Given the description of an element on the screen output the (x, y) to click on. 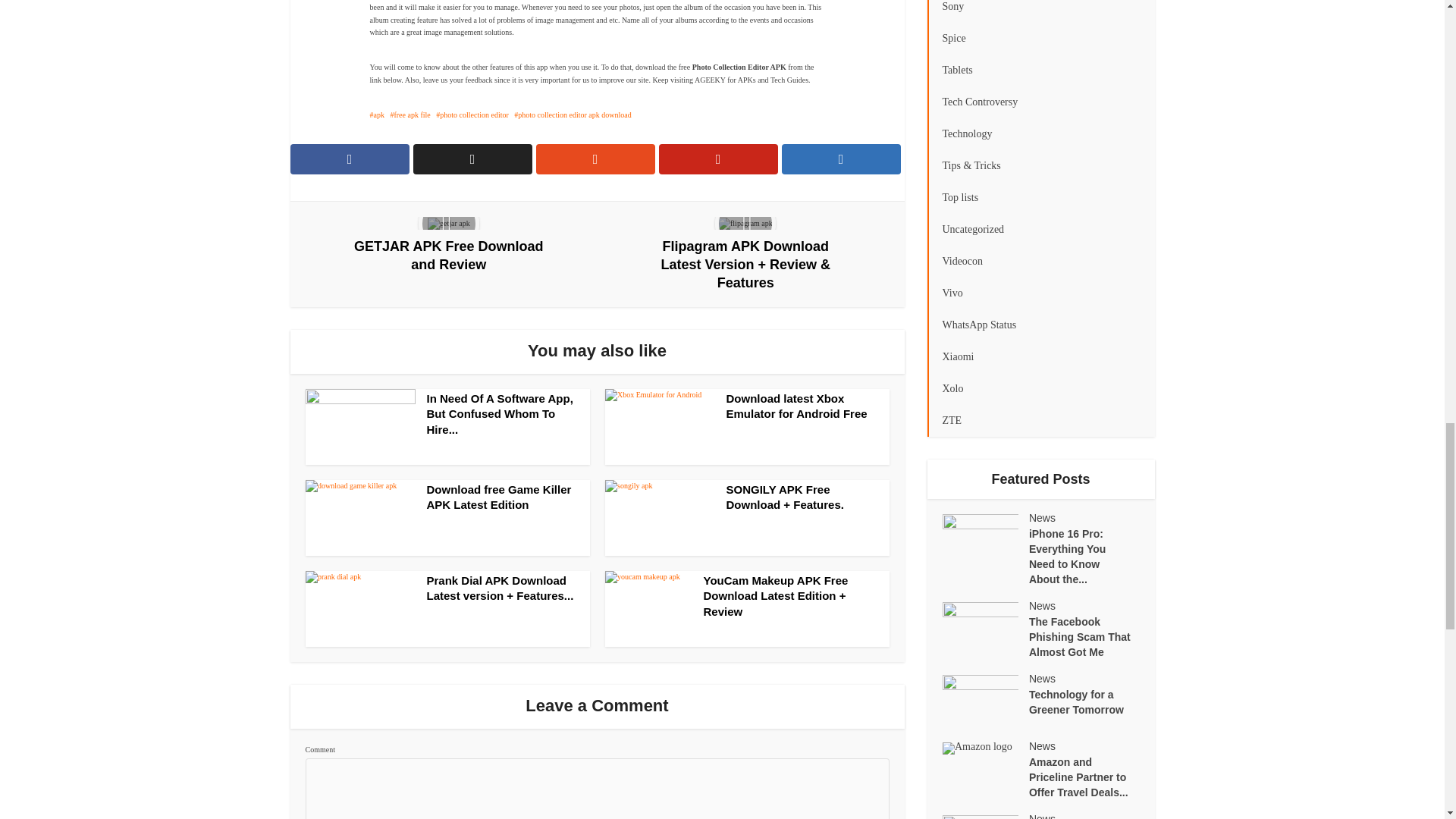
Download free Game Killer APK Latest Edition (498, 497)
Download latest Xbox Emulator for Android Free (796, 406)
The Facebook Phishing Scam That Almost Got Me (984, 627)
The Facebook Phishing Scam That Almost Got Me (1084, 635)
